Given the description of an element on the screen output the (x, y) to click on. 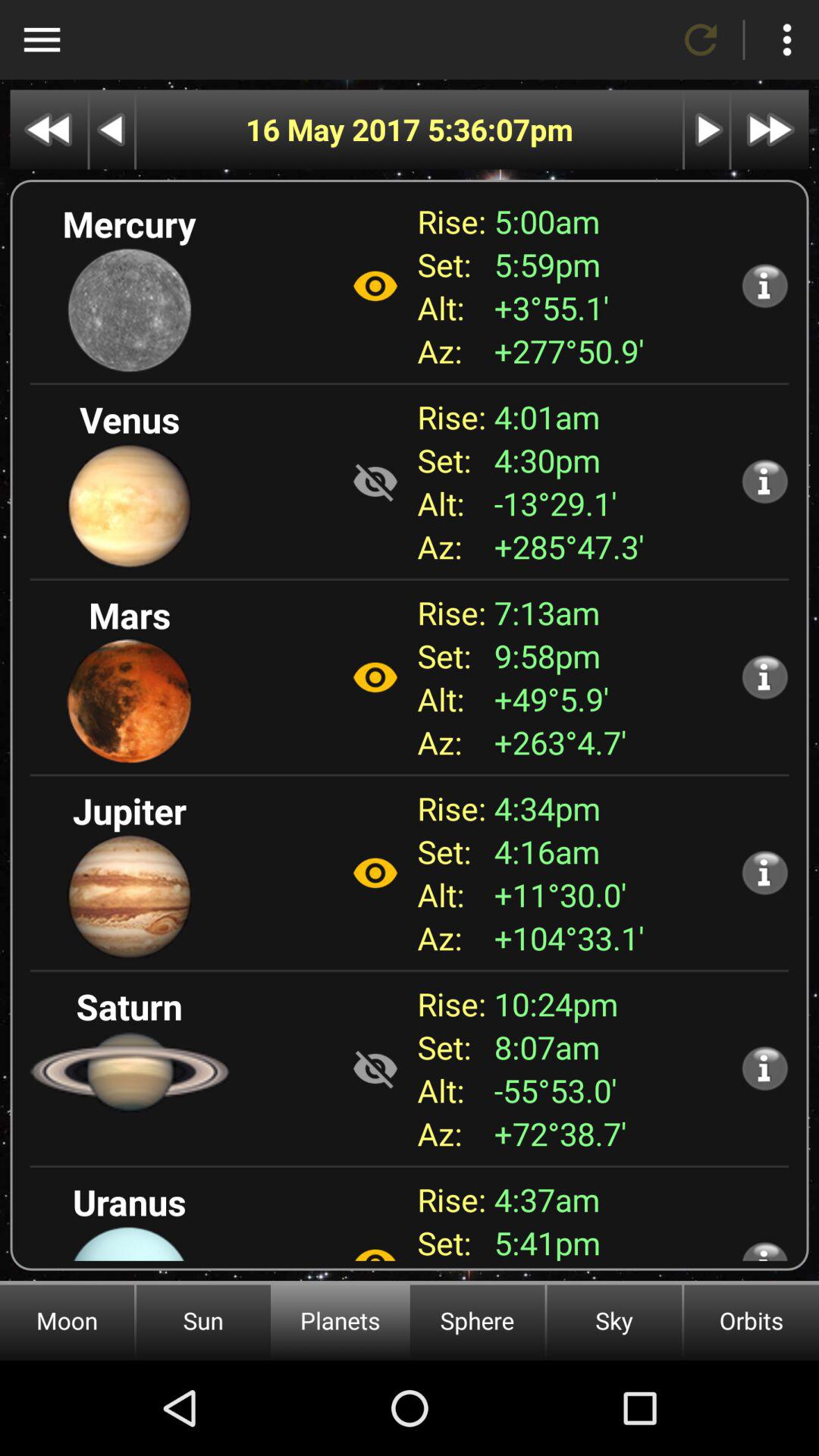
not visible (375, 481)
